Given the description of an element on the screen output the (x, y) to click on. 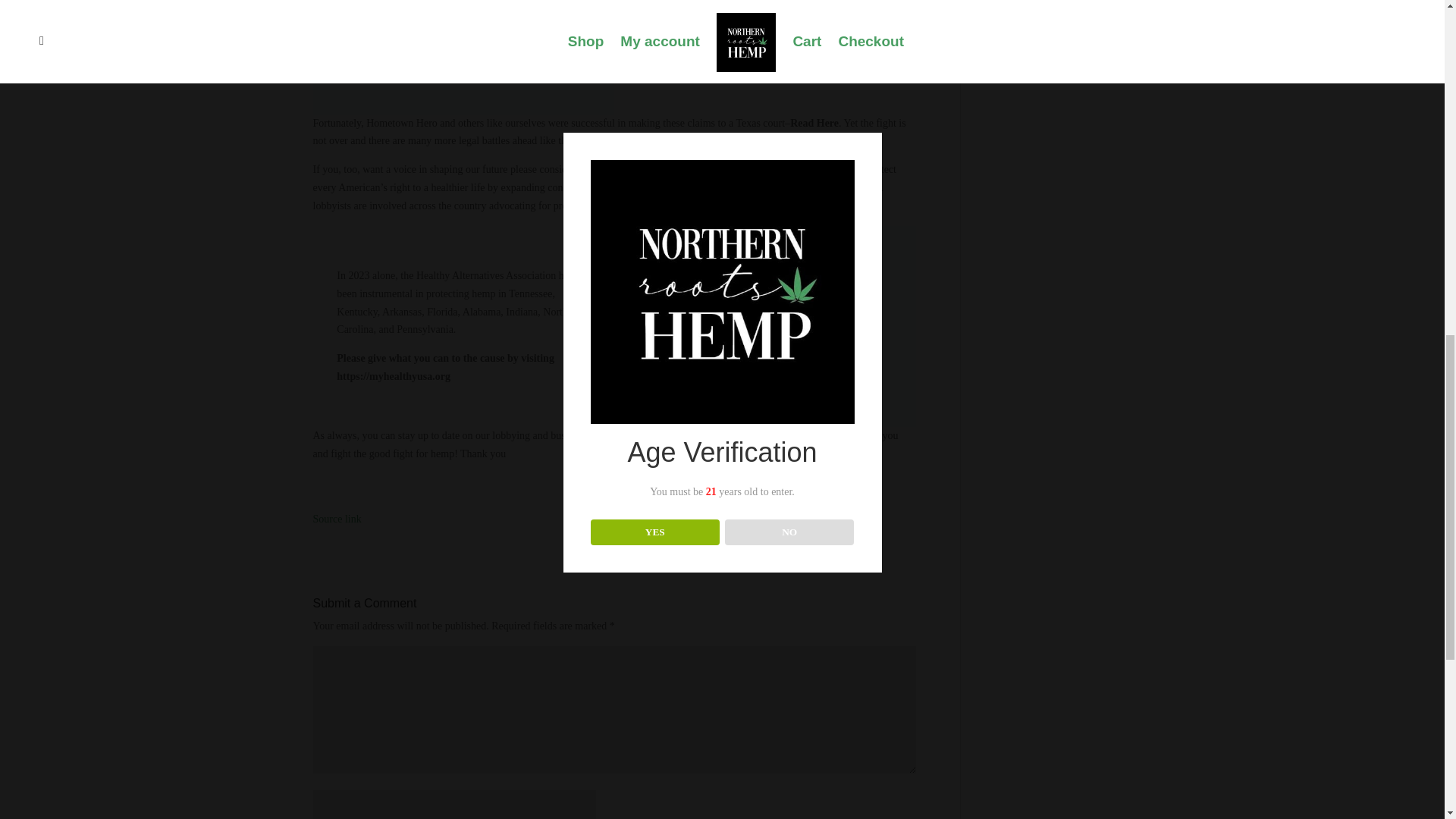
Source link (337, 518)
